Given the description of an element on the screen output the (x, y) to click on. 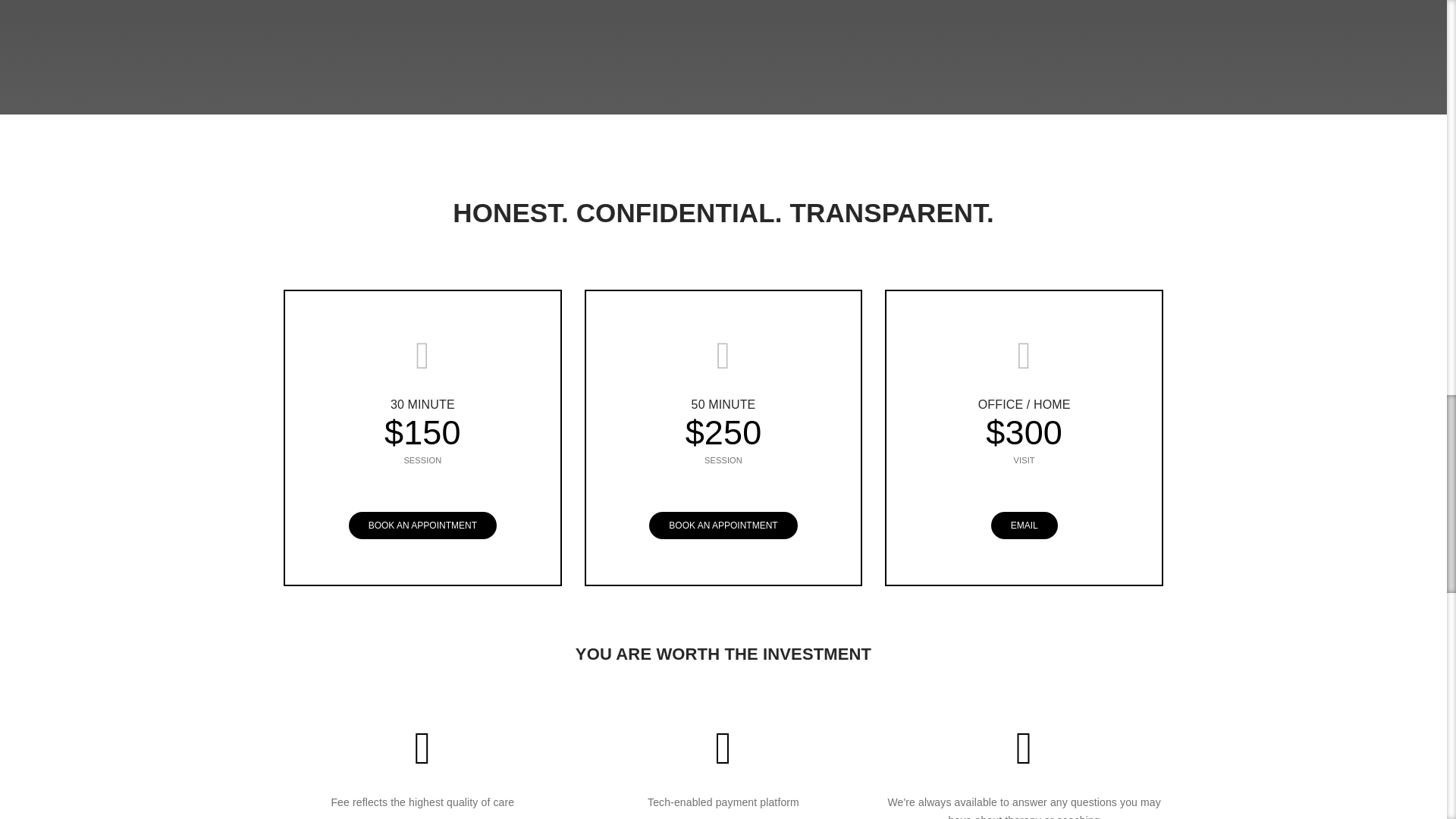
BOOK AN APPOINTMENT (722, 524)
BOOK AN APPOINTMENT (422, 524)
EMAIL (1024, 524)
